Given the description of an element on the screen output the (x, y) to click on. 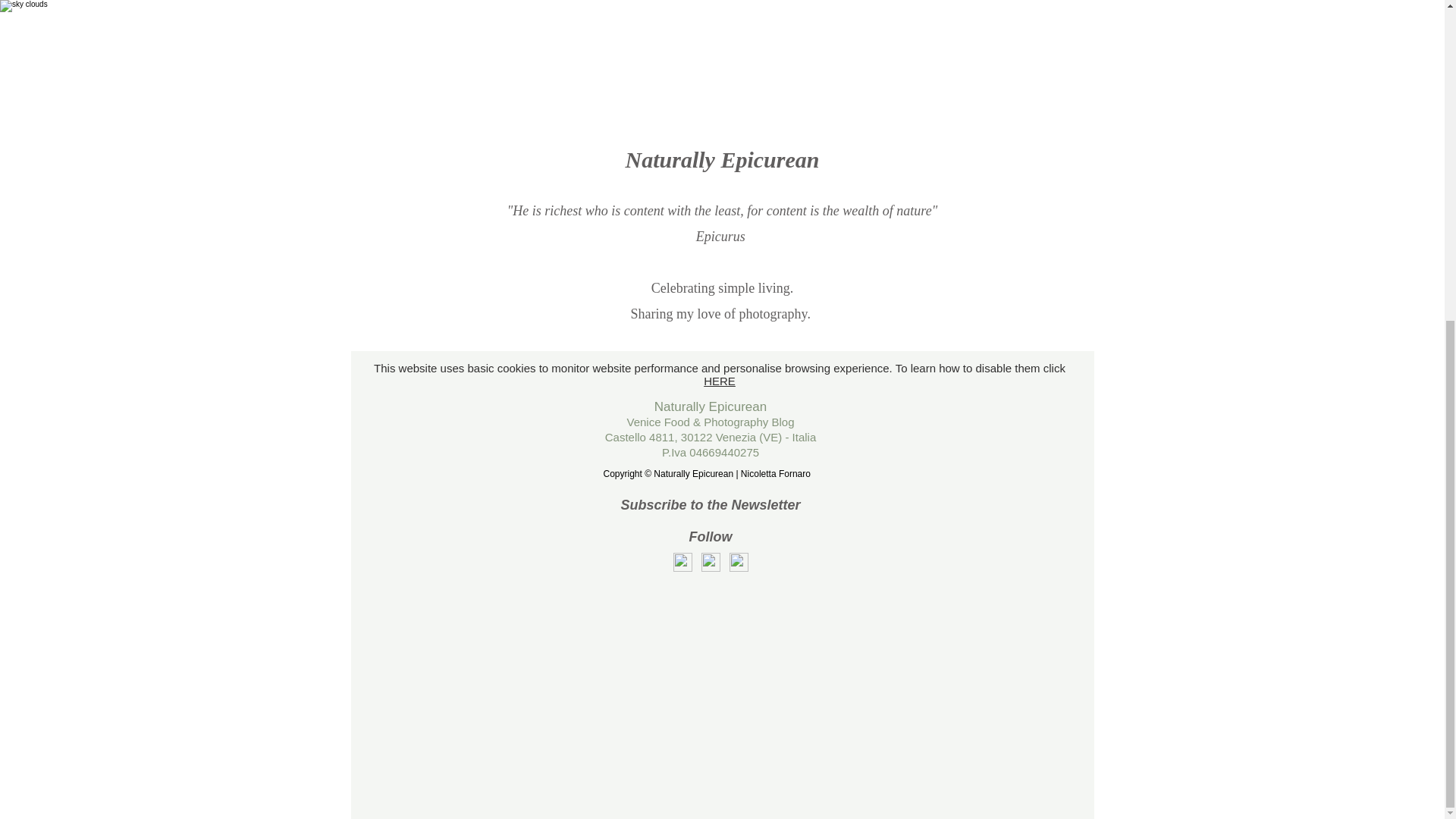
HERE (719, 380)
Subscribe to the Newsletter (709, 504)
Naturally Epicurean (710, 406)
